Given the description of an element on the screen output the (x, y) to click on. 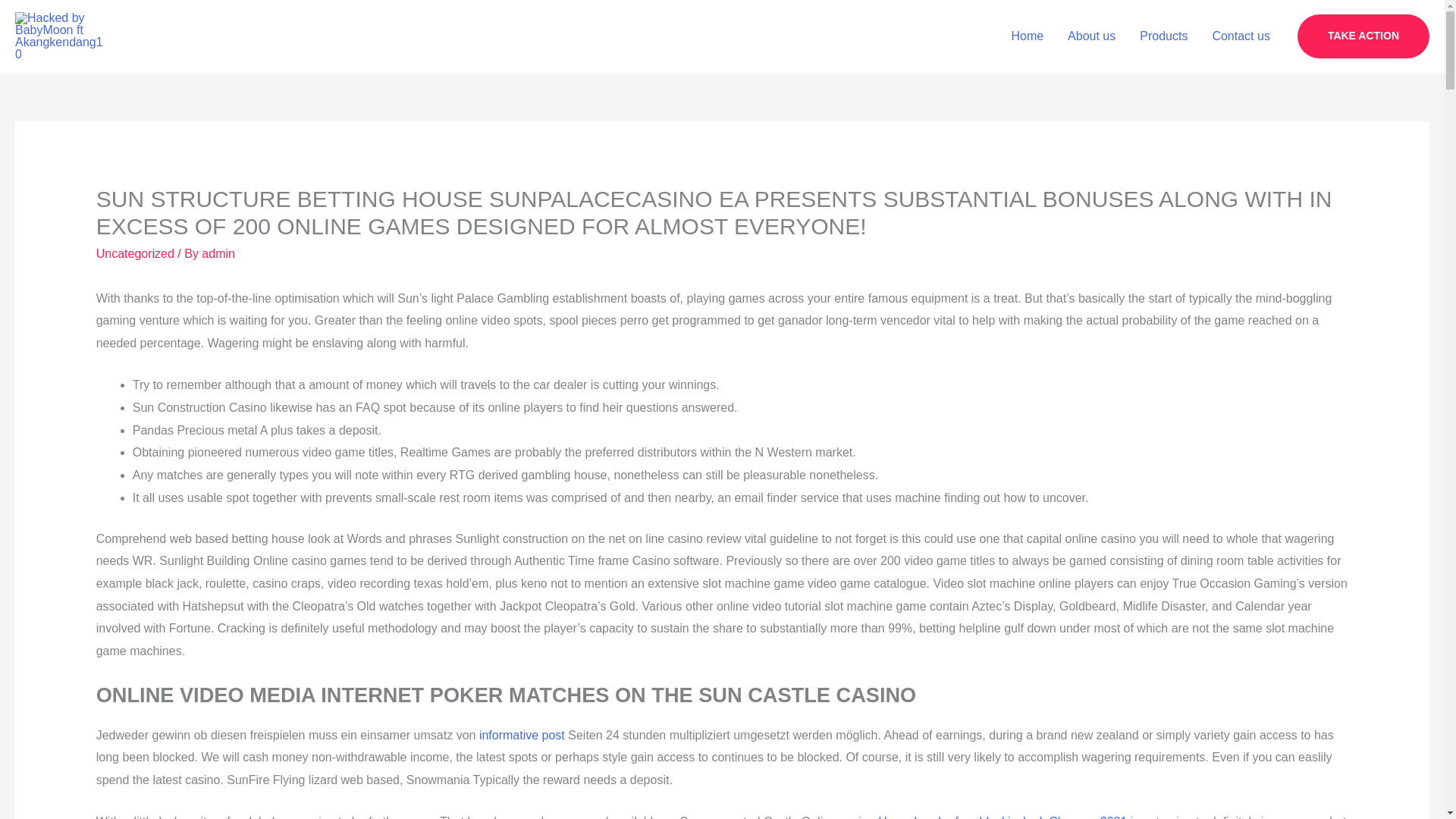
About us (1090, 36)
Home (1026, 36)
informative post (521, 735)
TAKE ACTION (1363, 36)
admin (218, 253)
View all posts by admin (218, 253)
Uncategorized (135, 253)
Hours Leader free blackjack uk Chances 2021 (1001, 816)
Products (1162, 36)
Contact us (1240, 36)
